Given the description of an element on the screen output the (x, y) to click on. 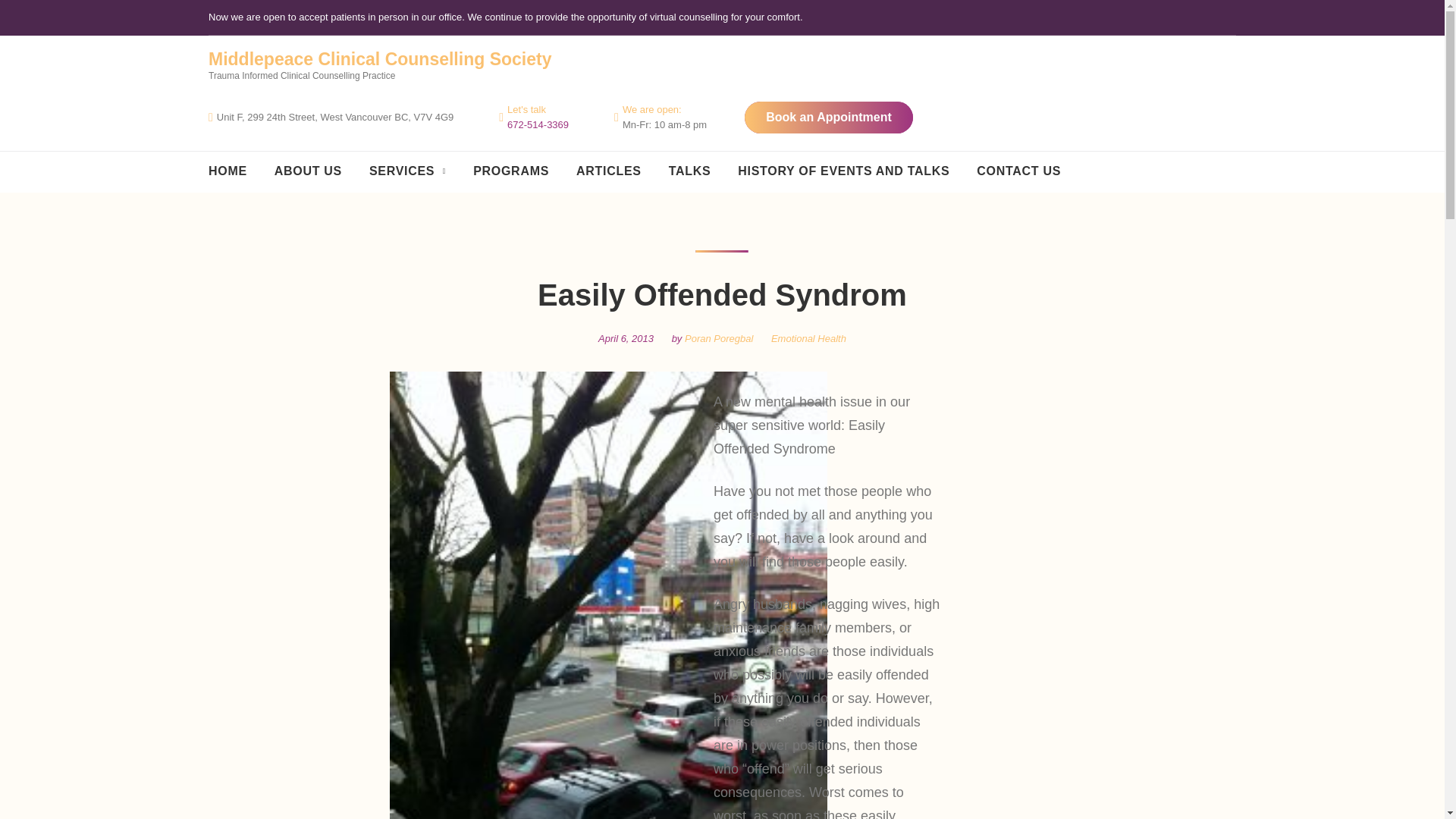
HOME (227, 171)
672-514-3369 (537, 124)
Book an Appointment (828, 117)
April 6, 2013 (625, 337)
Emotional Health (808, 337)
TALKS (689, 171)
HISTORY OF EVENTS AND TALKS (843, 171)
ABOUT US (308, 171)
PROGRAMS (510, 171)
Middlepeace Clinical Counselling Society (379, 58)
SERVICES (407, 171)
Poran Poregbal (718, 337)
CONTACT US (1018, 171)
ARTICLES (609, 171)
